Given the description of an element on the screen output the (x, y) to click on. 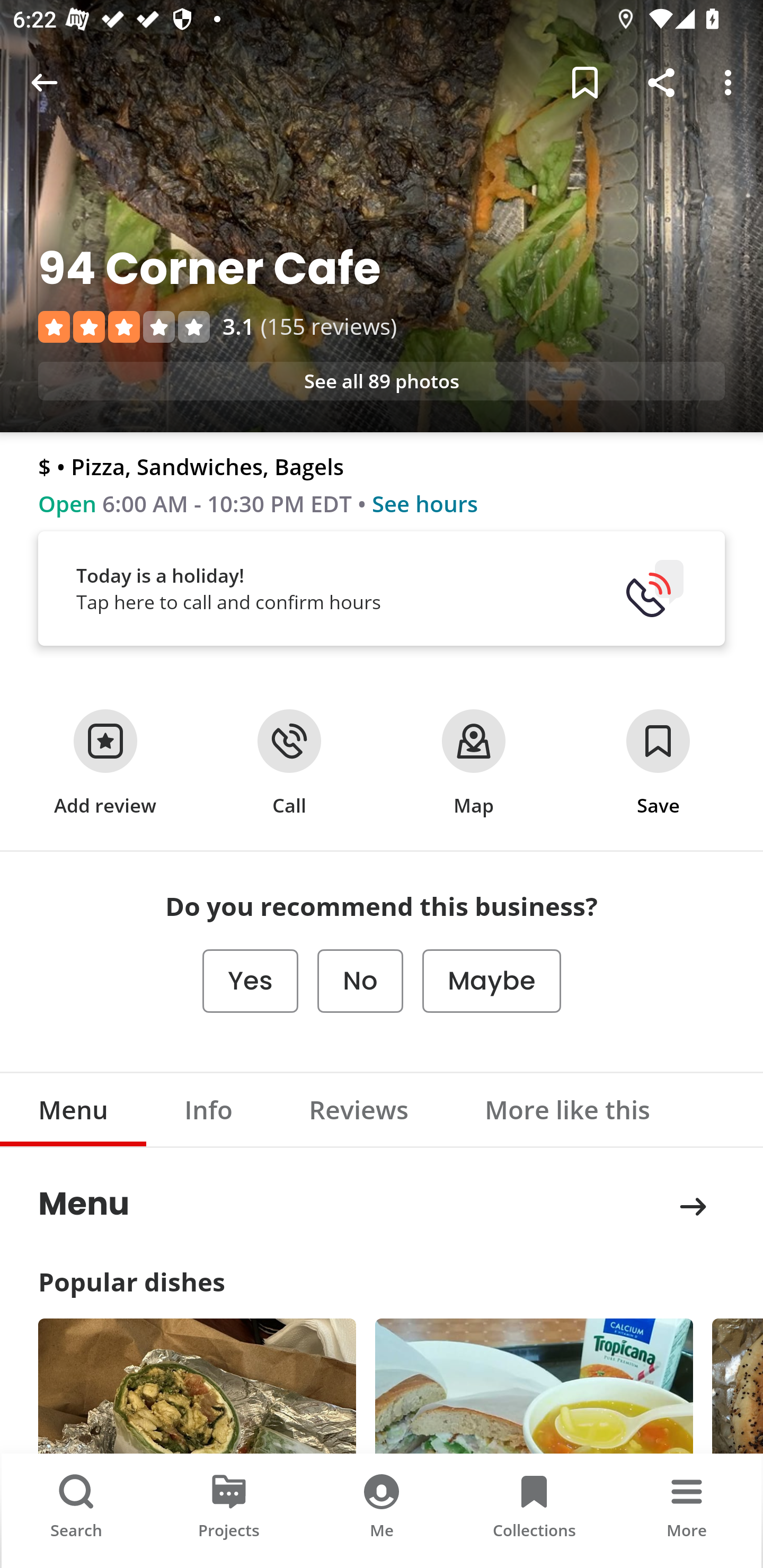
Info (208, 1108)
